Given the description of an element on the screen output the (x, y) to click on. 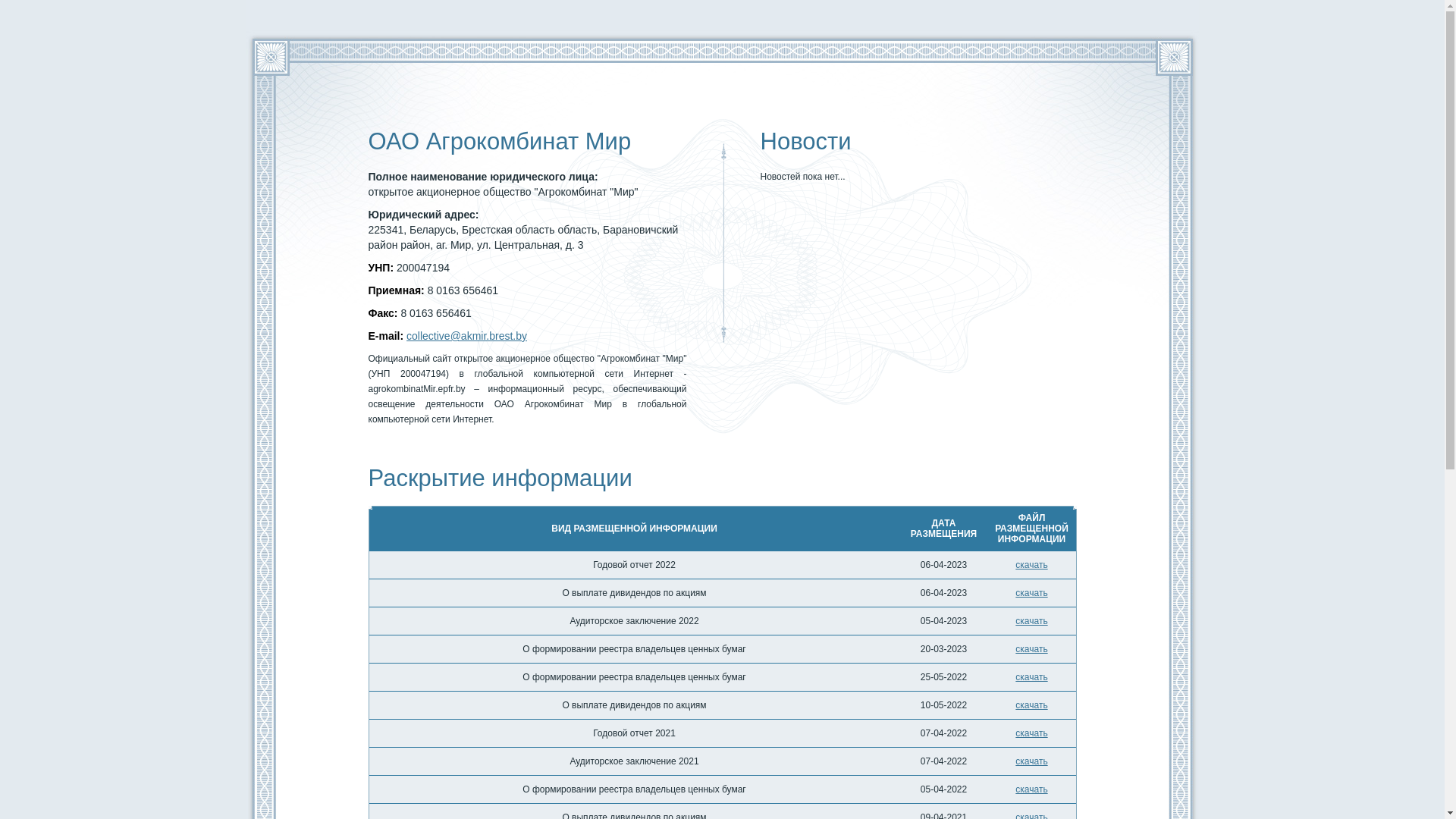
collective@akmir.brest.by Element type: text (466, 335)
